Given the description of an element on the screen output the (x, y) to click on. 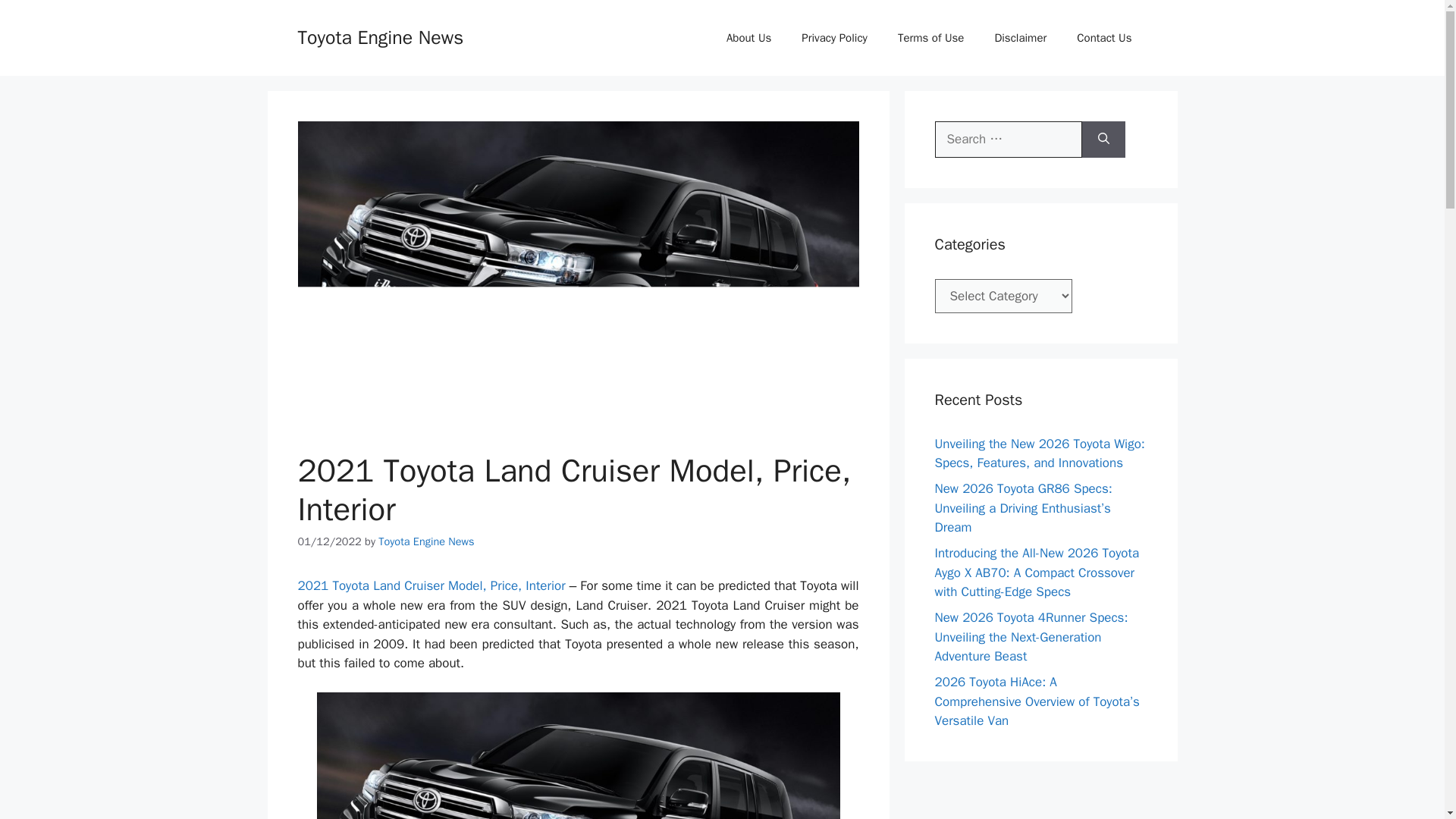
Toyota Engine News (380, 37)
Disclaimer (1019, 37)
Terms of Use (930, 37)
2021 Toyota Land Cruiser Model, Price, Interior (430, 585)
About Us (748, 37)
Toyota Engine News (426, 540)
View all posts by Toyota Engine News (426, 540)
Privacy Policy (834, 37)
Search for: (1007, 139)
Contact Us (1104, 37)
